Given the description of an element on the screen output the (x, y) to click on. 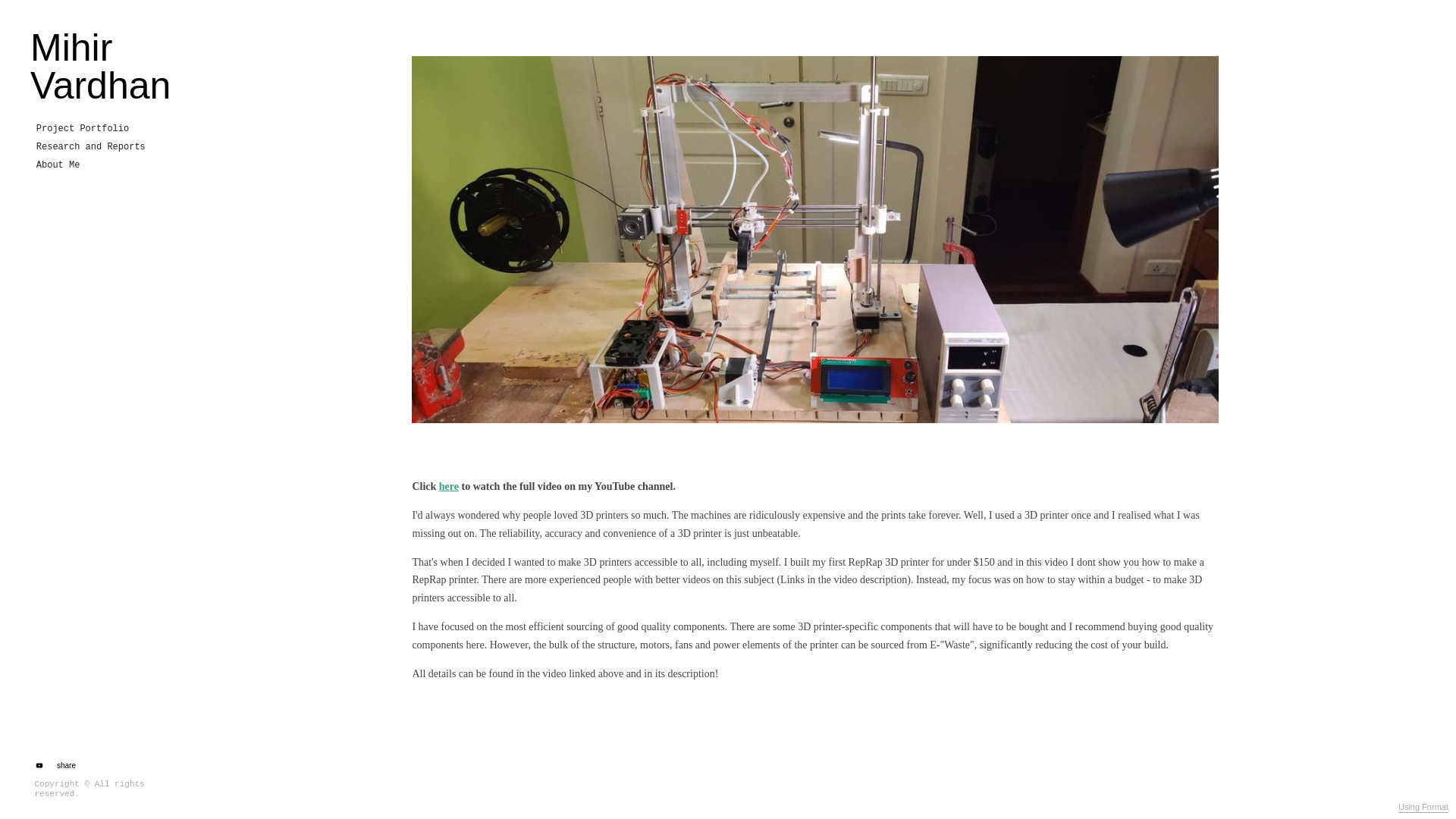
Mihir Vardhan (95, 66)
here (448, 486)
About Me (58, 165)
share (63, 765)
Using Format (1422, 807)
Project Portfolio (82, 128)
Research and Reports (90, 146)
